Given the description of an element on the screen output the (x, y) to click on. 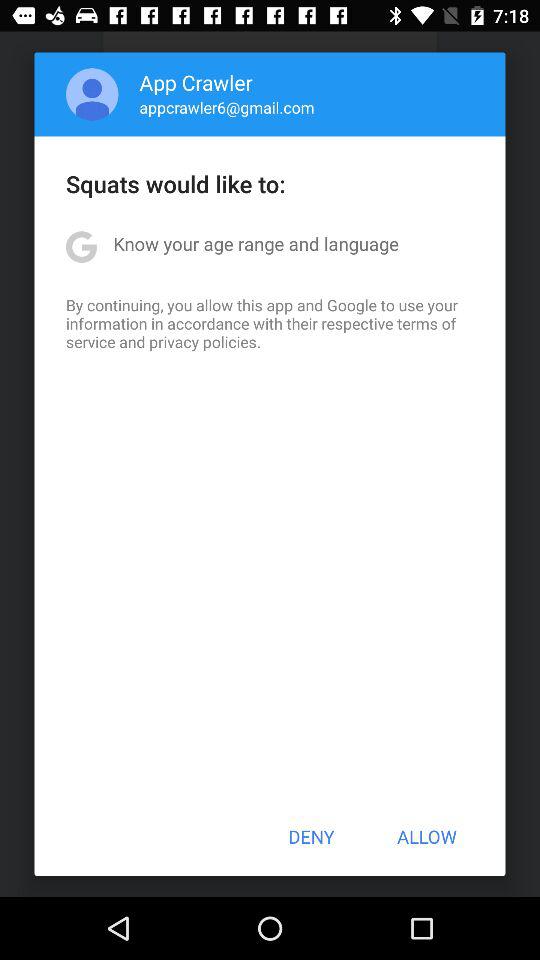
open the know your age (255, 243)
